Given the description of an element on the screen output the (x, y) to click on. 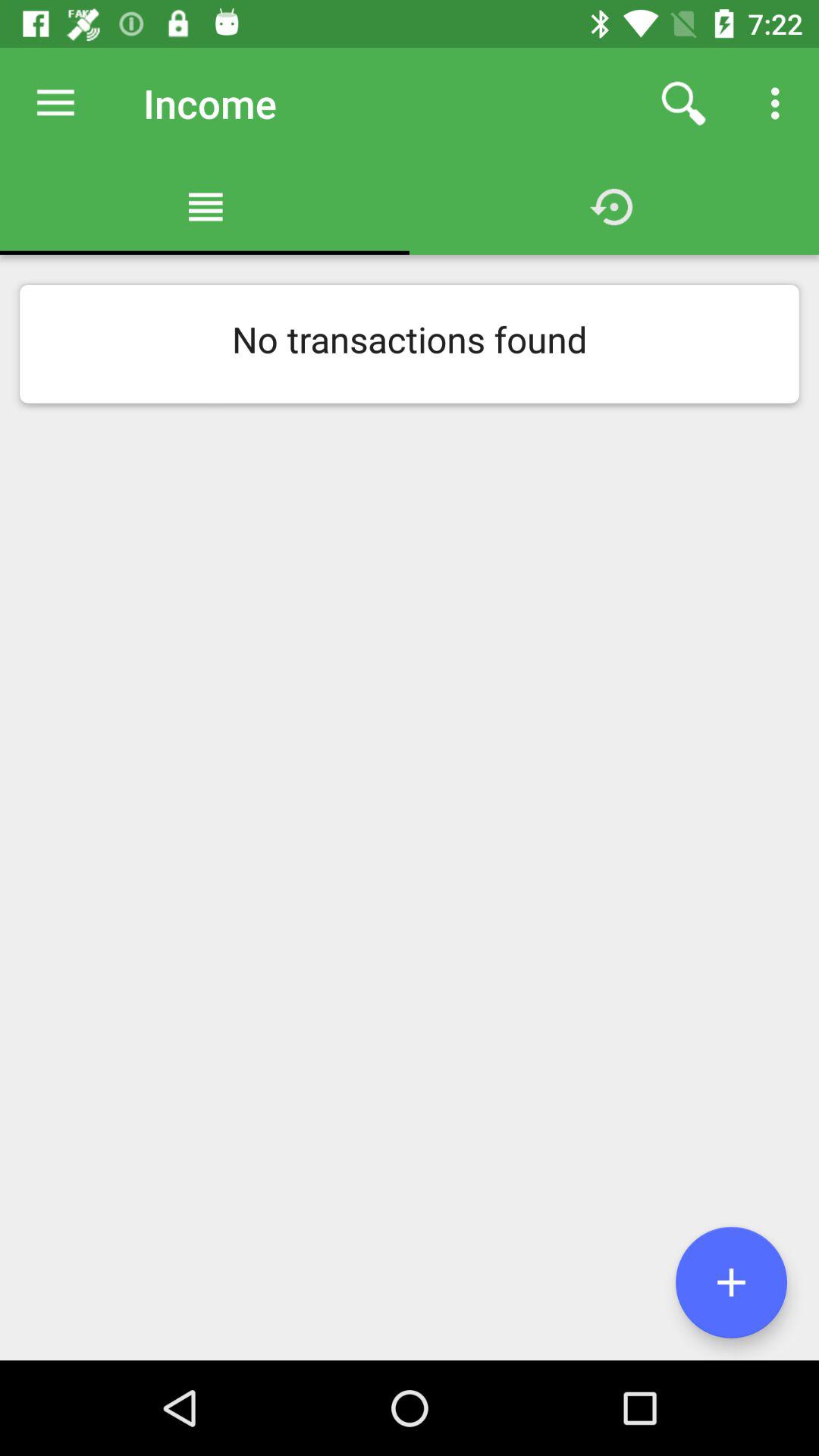
turn on the item at the bottom right corner (731, 1282)
